Given the description of an element on the screen output the (x, y) to click on. 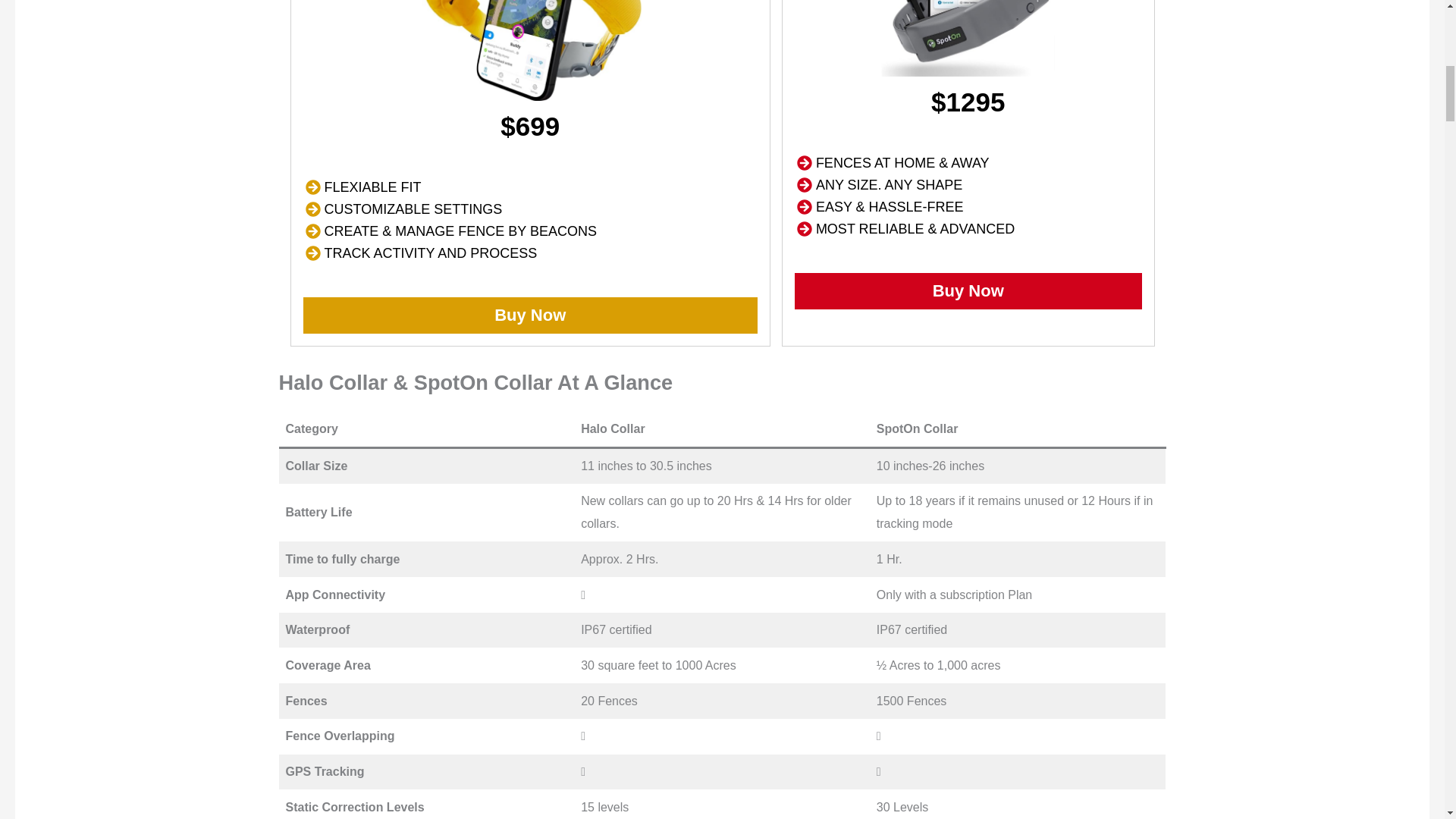
Buy Now (529, 315)
Buy Now (967, 290)
